Given the description of an element on the screen output the (x, y) to click on. 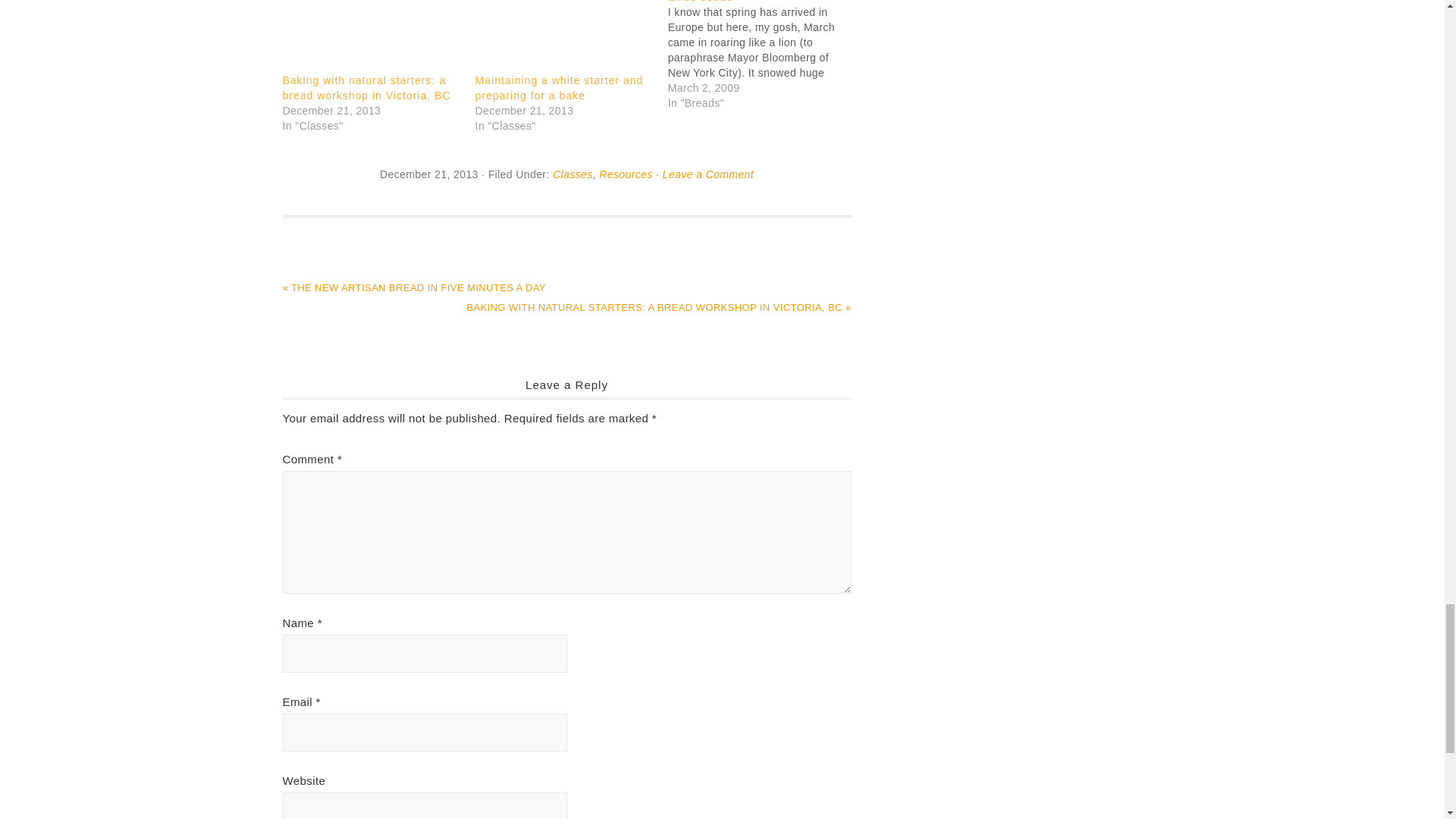
Rustic rye mini-loaves with anise seeds (740, 1)
Leave a Comment (708, 174)
Rustic rye mini-loaves with anise seeds (740, 1)
Maintaining a white starter and preparing for a bake (559, 87)
Maintaining a white starter and preparing for a bake (564, 38)
Classes (572, 174)
Maintaining a white starter and preparing for a bake (559, 87)
Resources (625, 174)
Rustic rye mini-loaves with anise seeds (764, 55)
